Given the description of an element on the screen output the (x, y) to click on. 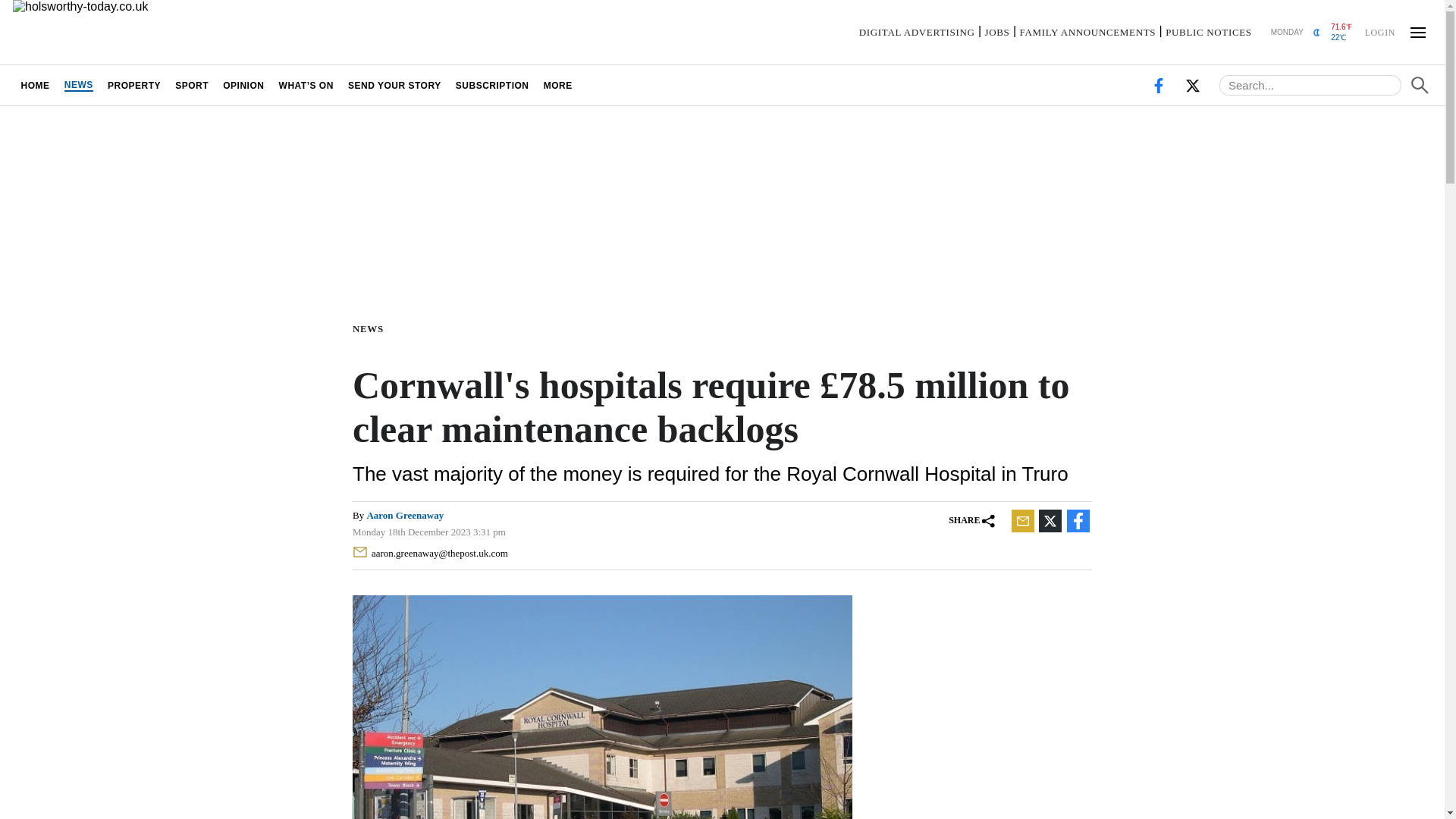
LOGIN (1379, 31)
OPINION (242, 85)
NEWS (78, 85)
Aaron Greenaway (405, 514)
PROPERTY (133, 85)
SUBSCRIPTION (491, 85)
SEND YOUR STORY (394, 85)
SPORT (191, 85)
NEWS (371, 328)
HOME (34, 85)
